Given the description of an element on the screen output the (x, y) to click on. 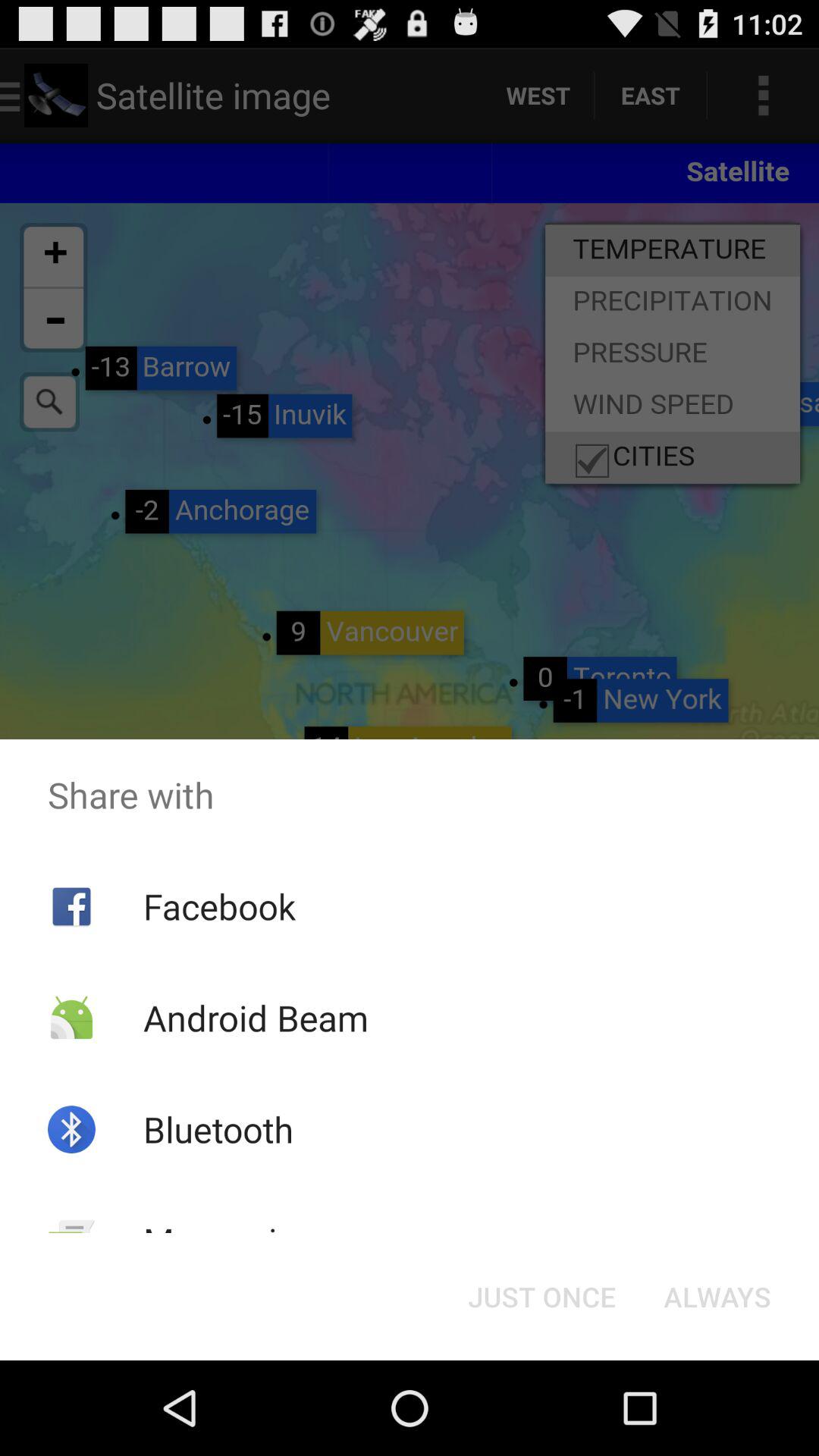
tap the always button (717, 1296)
